Given the description of an element on the screen output the (x, y) to click on. 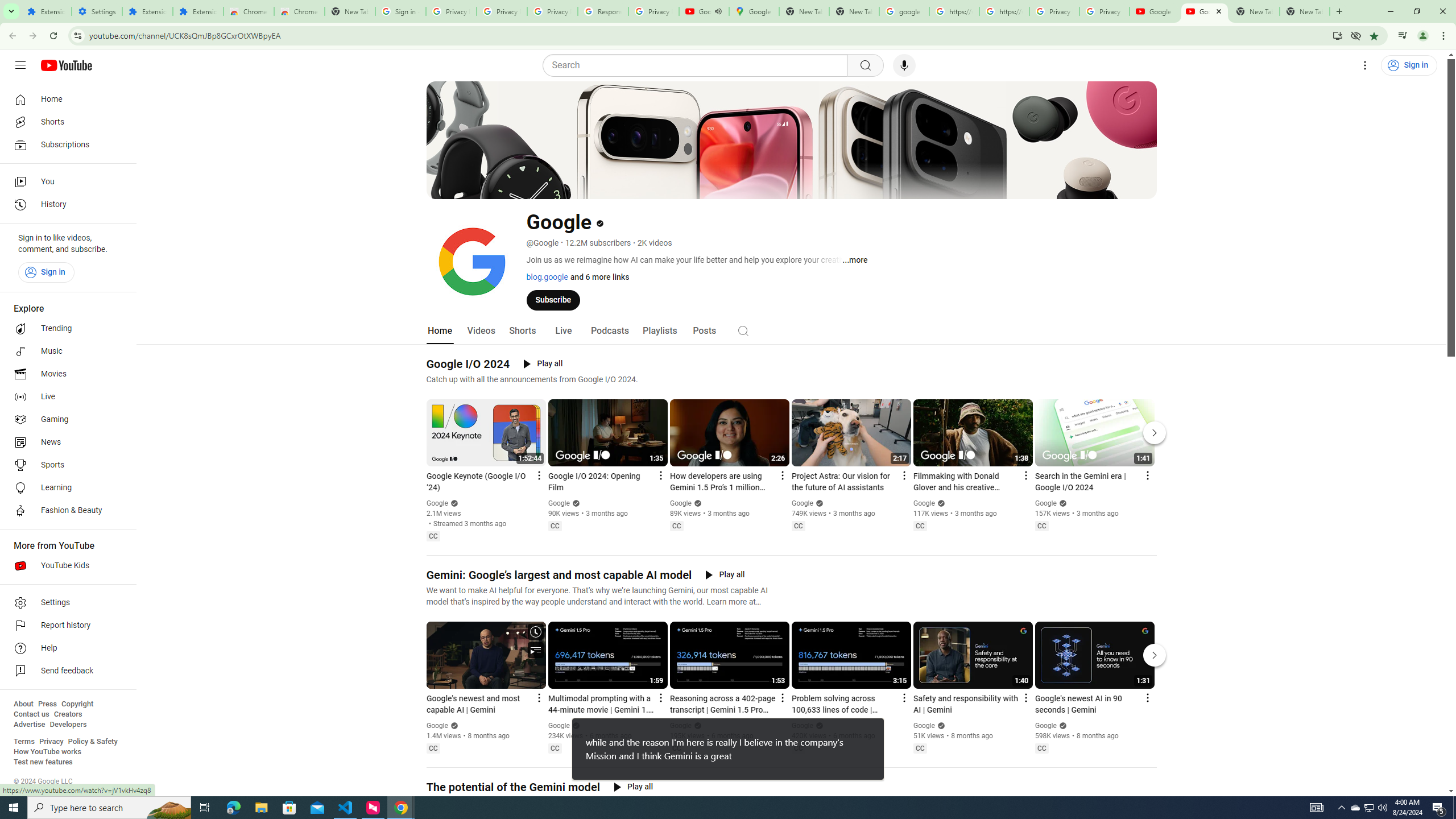
Google I/O 2024 (467, 363)
Live (64, 396)
Test new features (42, 761)
